Given the description of an element on the screen output the (x, y) to click on. 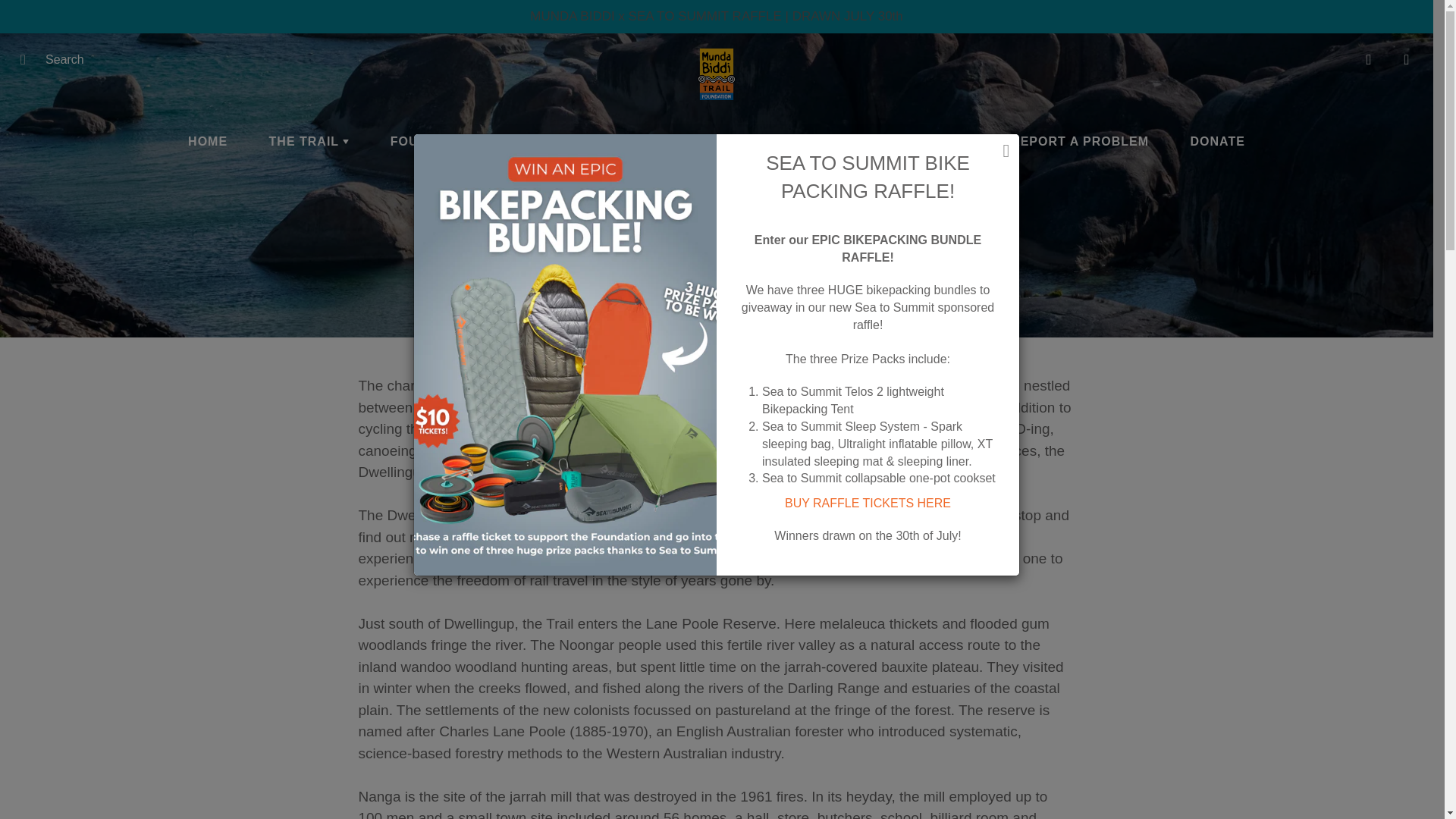
THE TRAIL (309, 141)
HOME (207, 141)
My account (1368, 59)
You have 0 items in your cart (1406, 59)
Home (681, 291)
Epic Bike-Packing Bundle Raffle! (867, 502)
Search (28, 59)
